Given the description of an element on the screen output the (x, y) to click on. 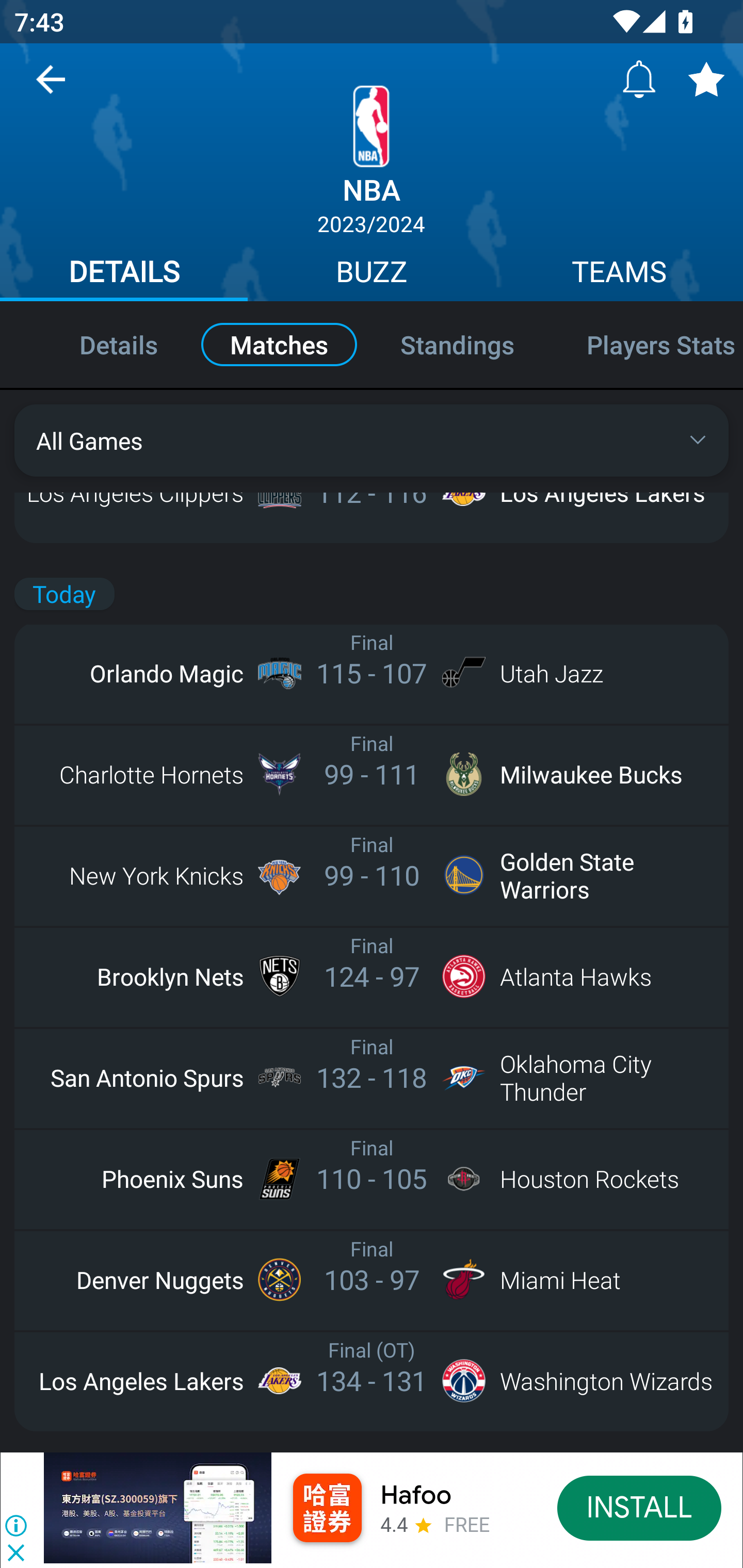
Navigate up (50, 86)
DETAILS (123, 274)
BUZZ (371, 274)
TEAMS (619, 274)
Details (96, 344)
Standings (457, 344)
Players Stats (646, 344)
All Games (371, 440)
Orlando Magic Final 115 - 107 Utah Jazz (371, 673)
Charlotte Hornets Final 99 - 111 Milwaukee Bucks (371, 774)
Brooklyn Nets Final 124 - 97 Atlanta Hawks (371, 976)
Phoenix Suns Final 110 - 105 Houston Rockets (371, 1178)
Denver Nuggets Final 103 - 97 Miami Heat (371, 1279)
INSTALL (639, 1507)
Hafoo (416, 1494)
